Given the description of an element on the screen output the (x, y) to click on. 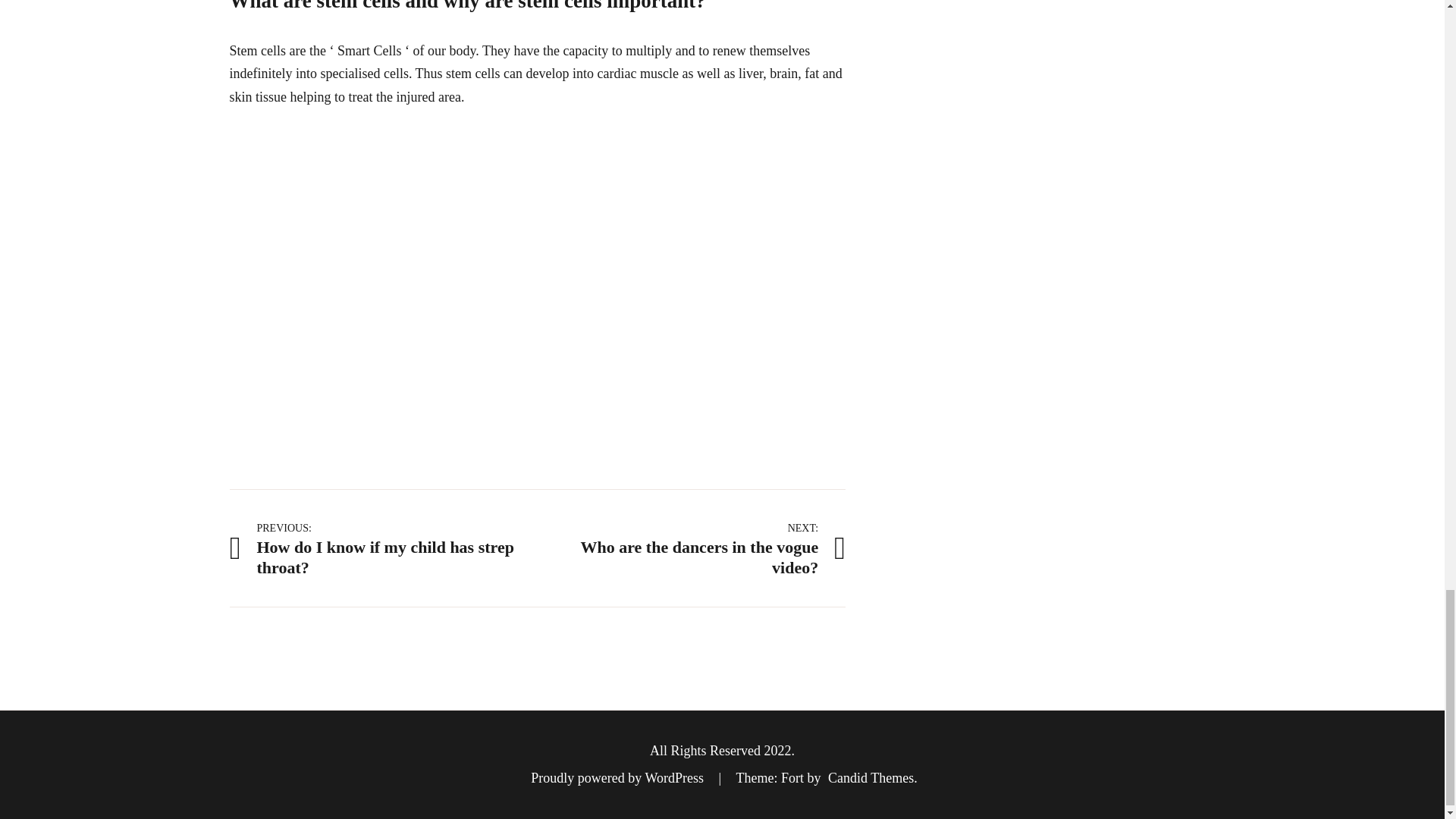
Candid Themes (382, 547)
Proudly powered by WordPress (871, 777)
